Given the description of an element on the screen output the (x, y) to click on. 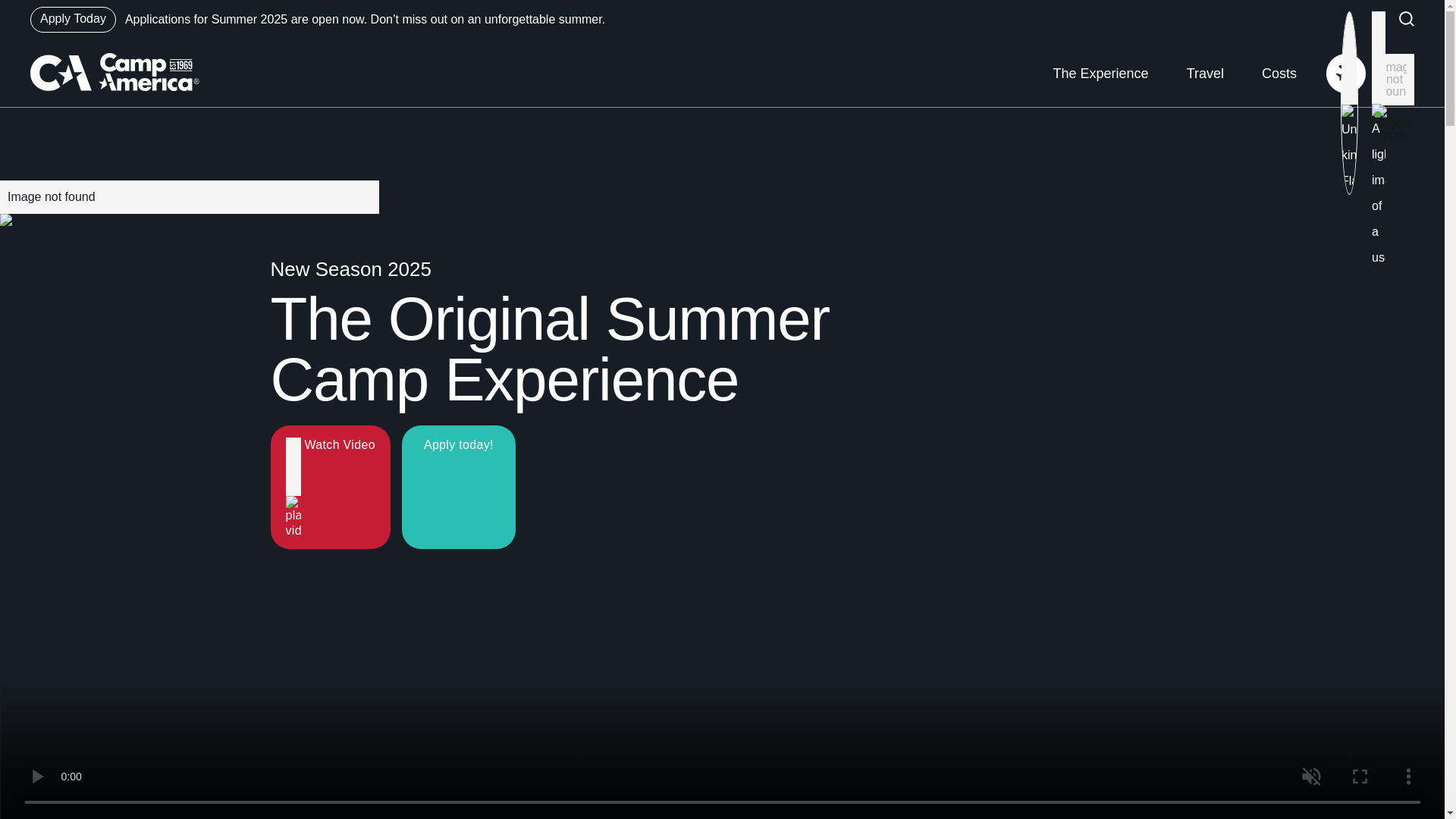
Apply Today (73, 19)
